Given the description of an element on the screen output the (x, y) to click on. 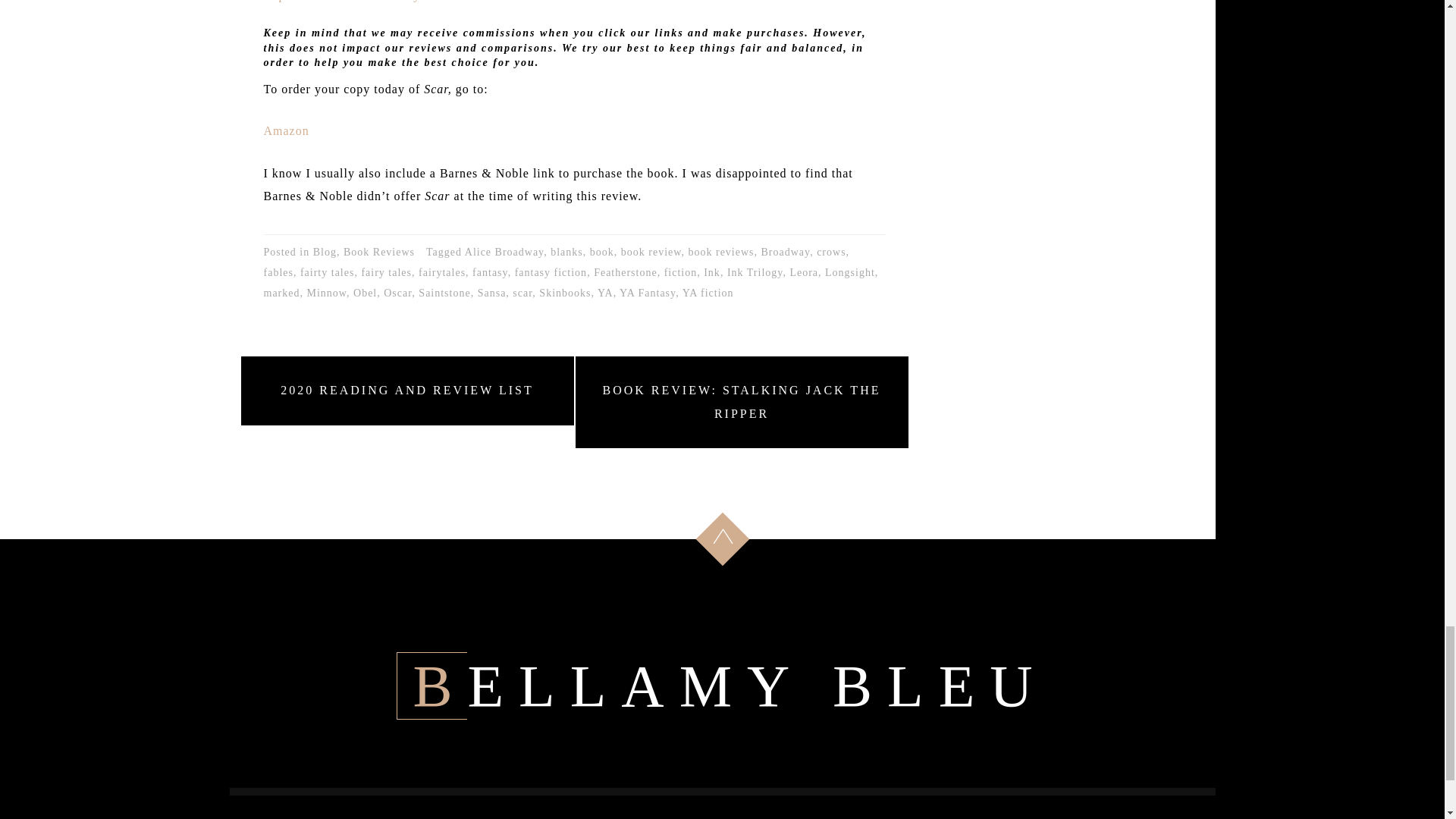
book reviews (720, 251)
book (601, 251)
fables (278, 271)
Amazon (285, 130)
fantasy fiction (550, 271)
fairy tales (386, 271)
crows (830, 251)
Alice Broadway (503, 251)
Blog (324, 251)
fairytales (442, 271)
Leora (803, 271)
Featherstone (626, 271)
blanks (566, 251)
Longsight (850, 271)
Obel (365, 292)
